Given the description of an element on the screen output the (x, y) to click on. 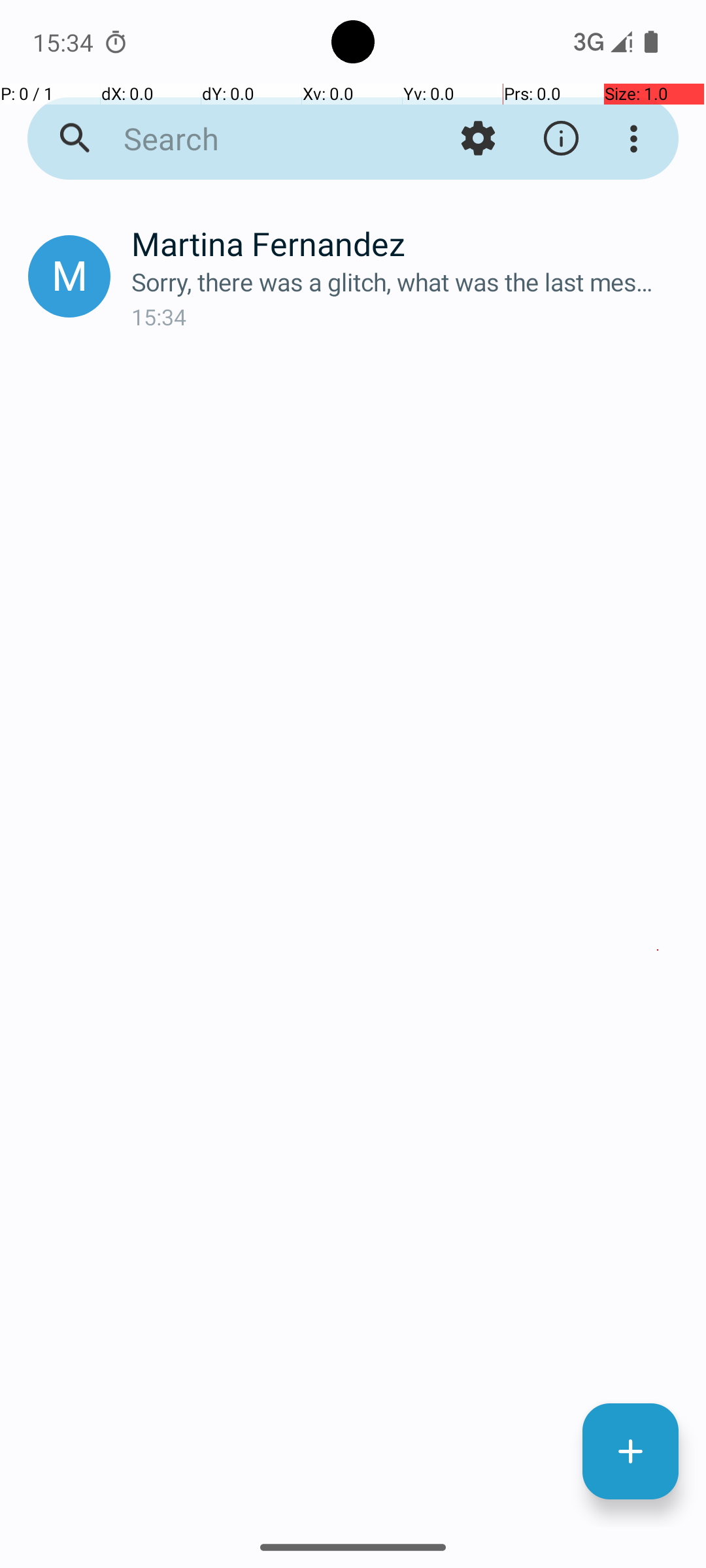
Martina Fernandez Element type: android.widget.TextView (408, 242)
